Given the description of an element on the screen output the (x, y) to click on. 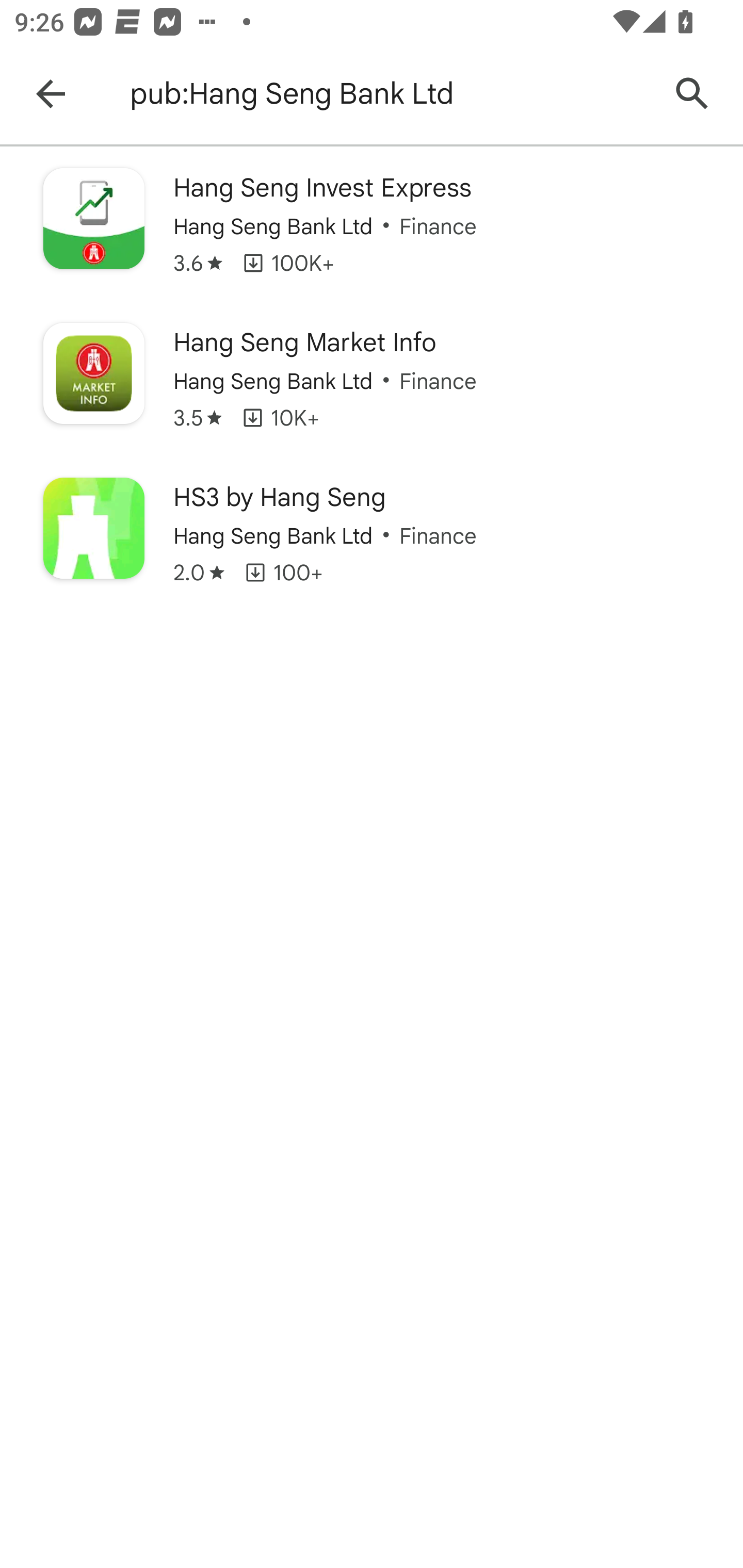
pub:Hang Seng Bank Ltd (389, 93)
Navigate up (50, 93)
Search Google Play (692, 93)
